Given the description of an element on the screen output the (x, y) to click on. 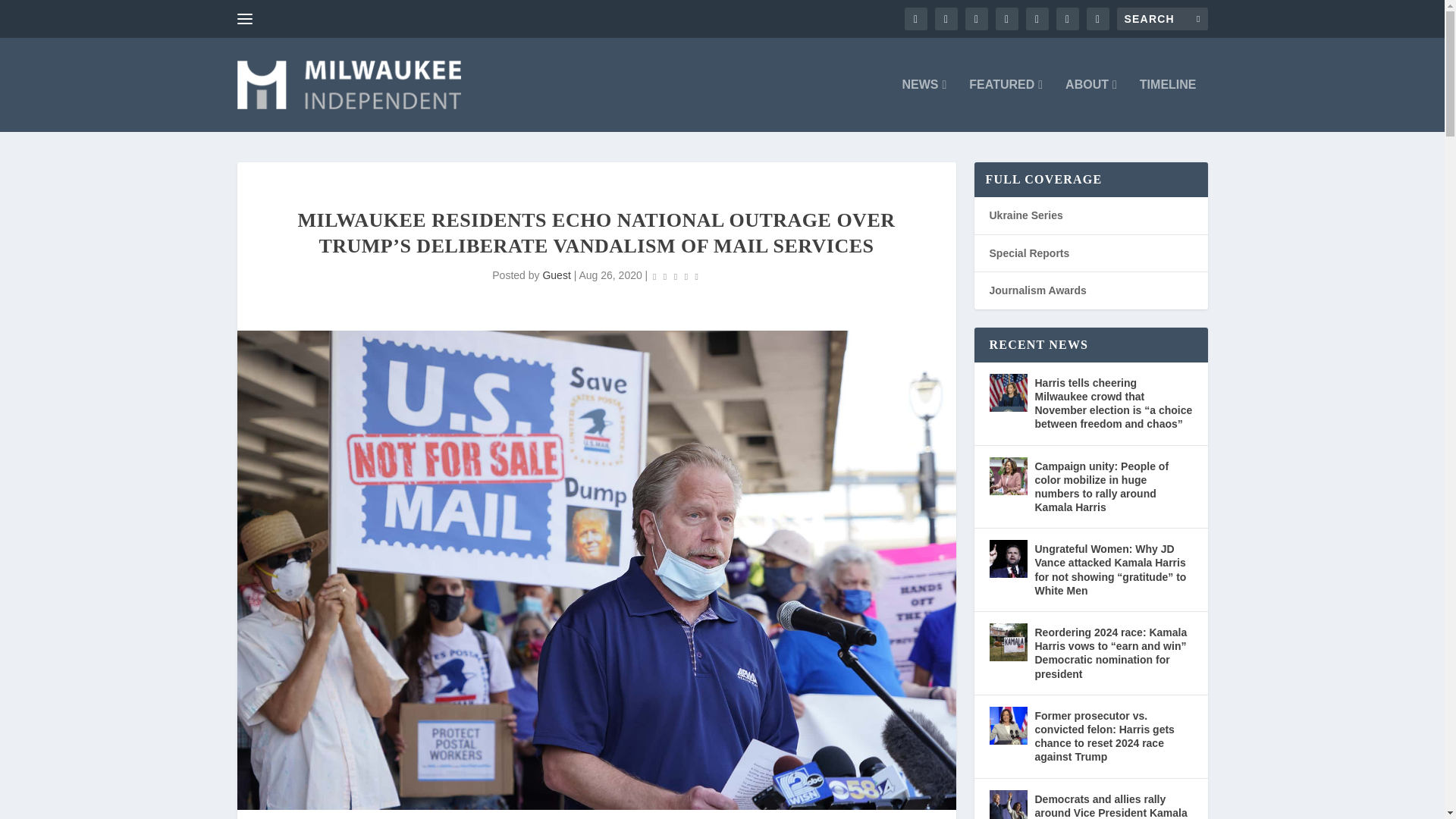
FEATURED (1005, 104)
TIMELINE (1168, 104)
Rating: 0.00 (675, 275)
Posts by Guest (555, 275)
ABOUT (1090, 104)
Search for: (1161, 18)
